Given the description of an element on the screen output the (x, y) to click on. 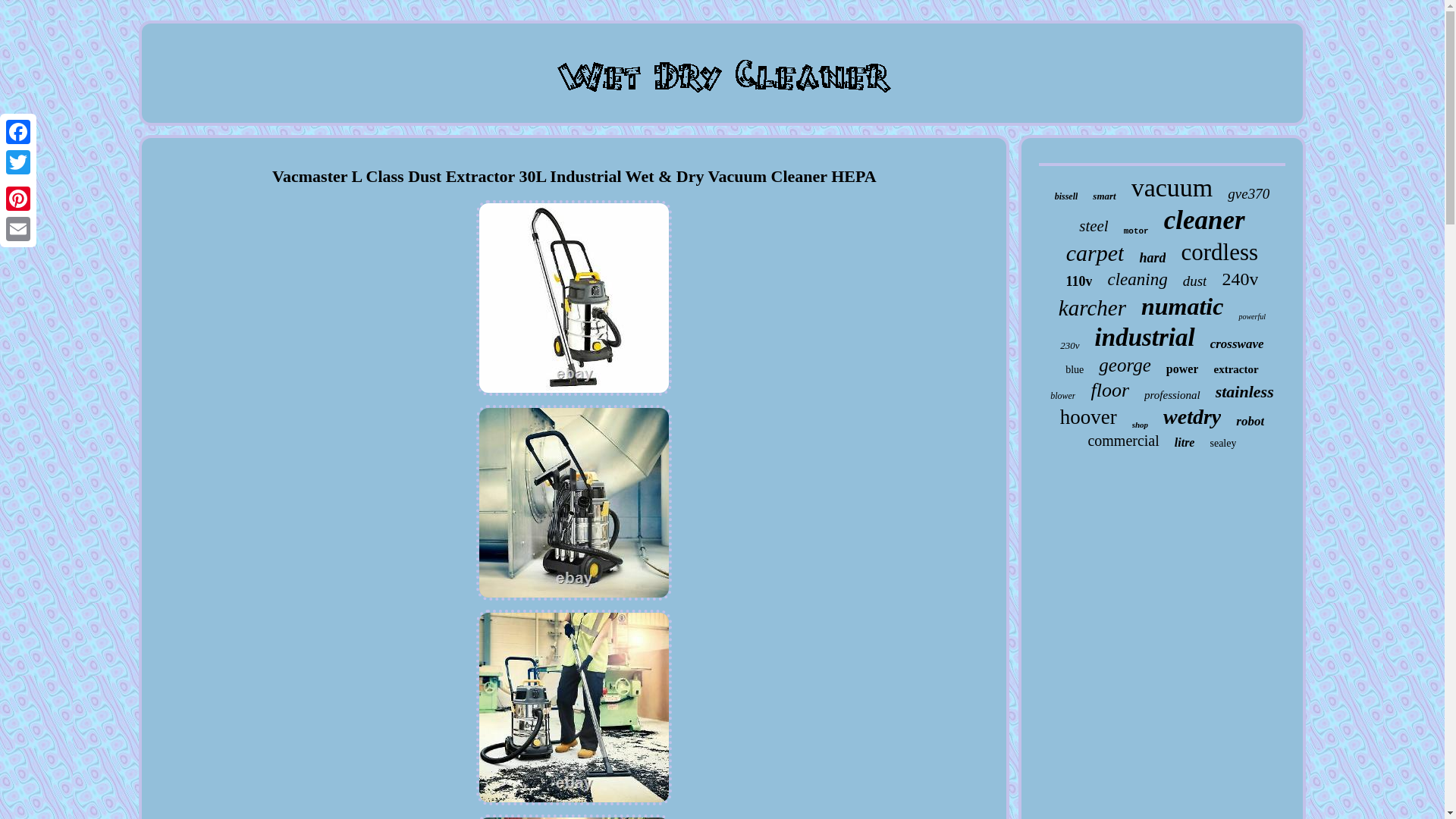
blue (1074, 369)
george (1125, 364)
110v (1078, 281)
230v (1068, 345)
crosswave (1236, 344)
smart (1104, 196)
bissell (1066, 196)
240v (1239, 279)
cleaner (1203, 220)
Pinterest (17, 198)
powerful (1252, 316)
extractor (1234, 369)
professional (1171, 395)
Facebook (17, 132)
blower (1062, 396)
